Given the description of an element on the screen output the (x, y) to click on. 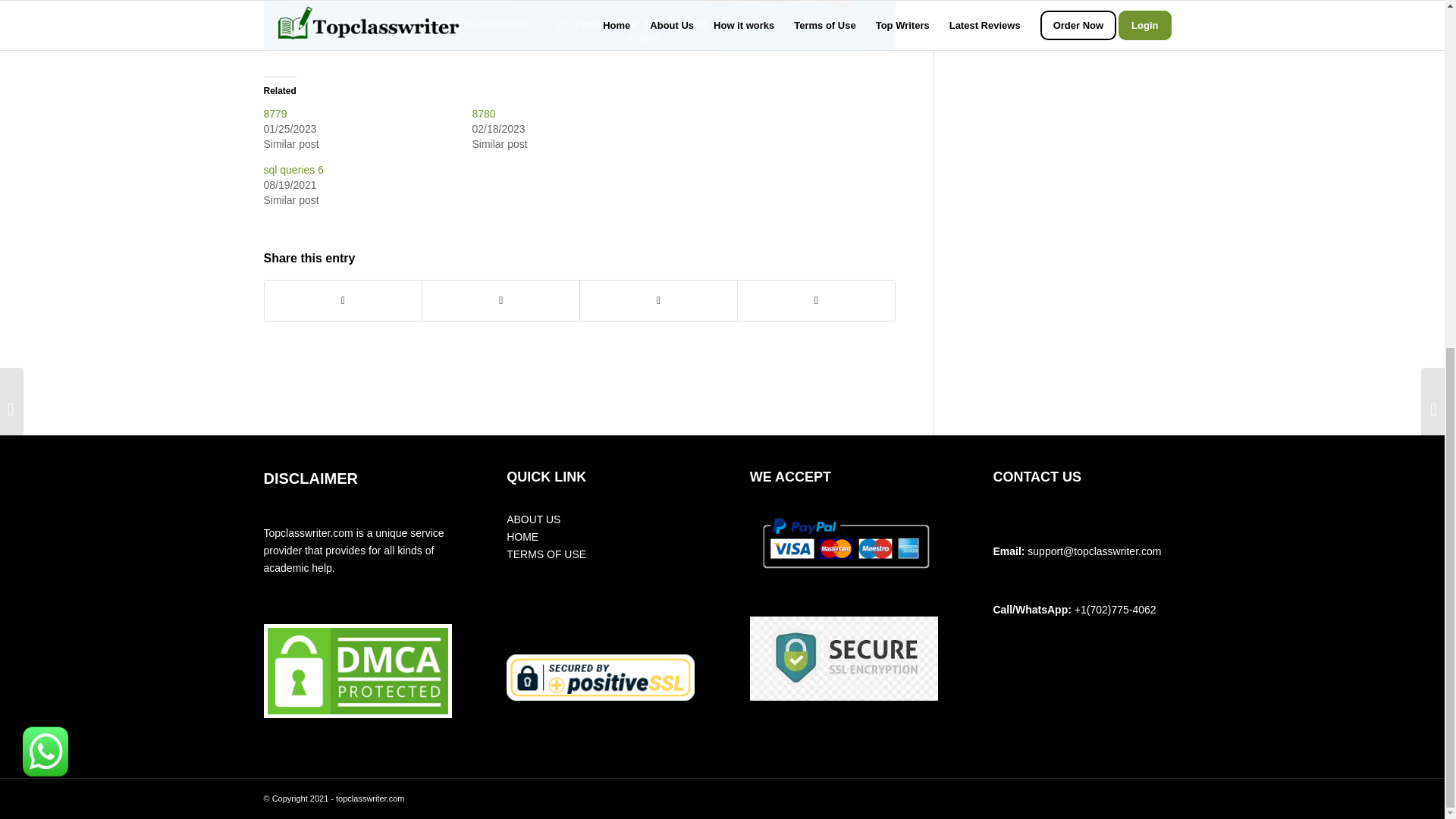
HOME (522, 536)
8779 (274, 113)
Share this entry (309, 257)
ABOUT US (533, 519)
TERMS OF USE (546, 553)
8779 (274, 113)
8780 (483, 113)
8780 (483, 113)
sql queries 6 (293, 169)
sql queries 6 (293, 169)
